Given the description of an element on the screen output the (x, y) to click on. 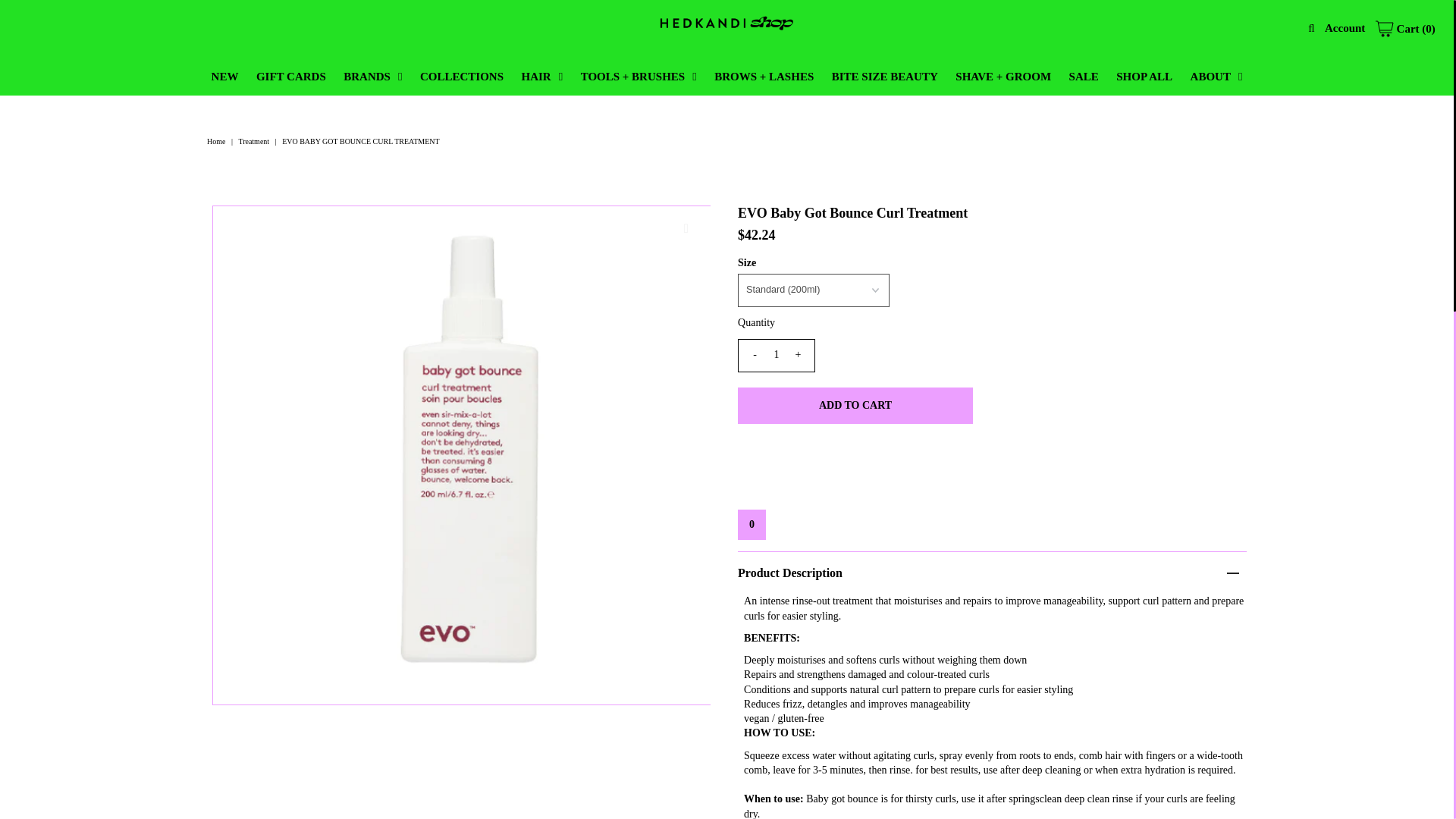
click to zoom-in (686, 229)
Home (217, 141)
Add to Cart (855, 405)
0 (751, 524)
Add to Wishlist (751, 524)
Treatment (255, 141)
